Given the description of an element on the screen output the (x, y) to click on. 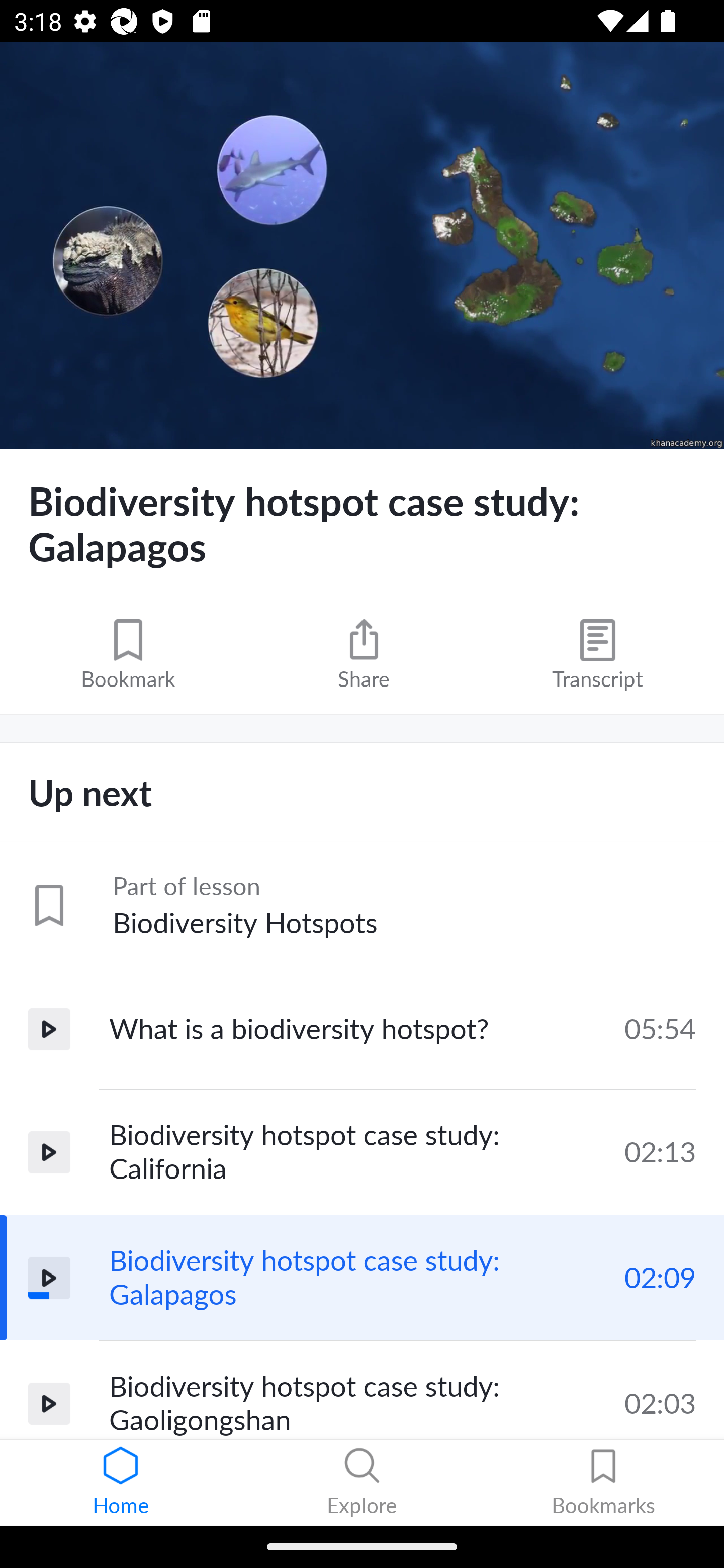
Toggle control visibility (362, 246)
Bookmark (128, 655)
Share (363, 655)
Transcript (596, 655)
Part of lesson Biodiversity Hotspots (362, 905)
What is a biodiversity hotspot? 05:54 (362, 1029)
Biodiversity hotspot case study:  California 02:13 (362, 1152)
Biodiversity hotspot case study:  Galapagos 02:09 (362, 1277)
Home (120, 1482)
Explore (361, 1482)
Bookmarks (603, 1482)
